Given the description of an element on the screen output the (x, y) to click on. 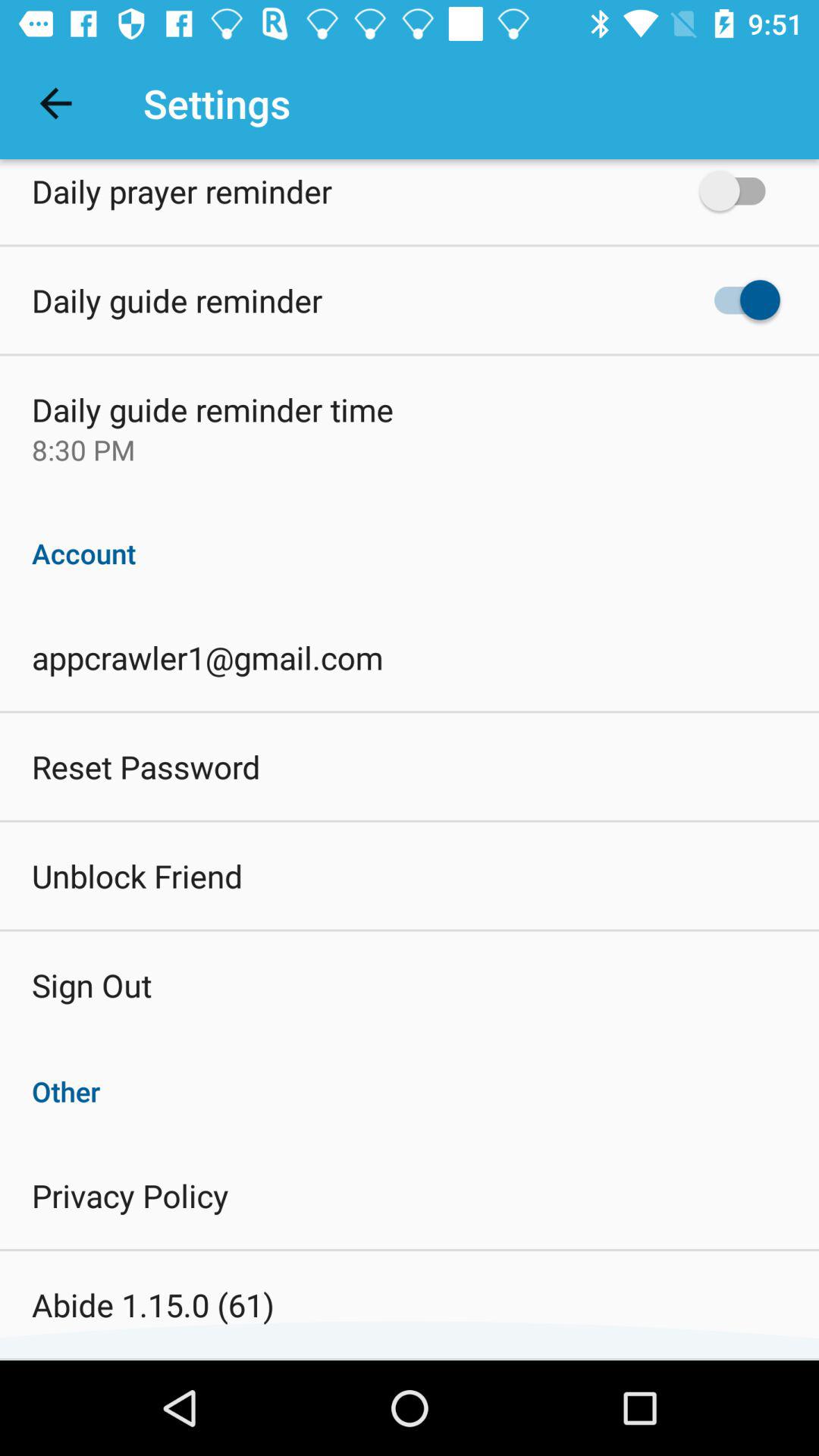
press the icon next to settings (55, 103)
